Given the description of an element on the screen output the (x, y) to click on. 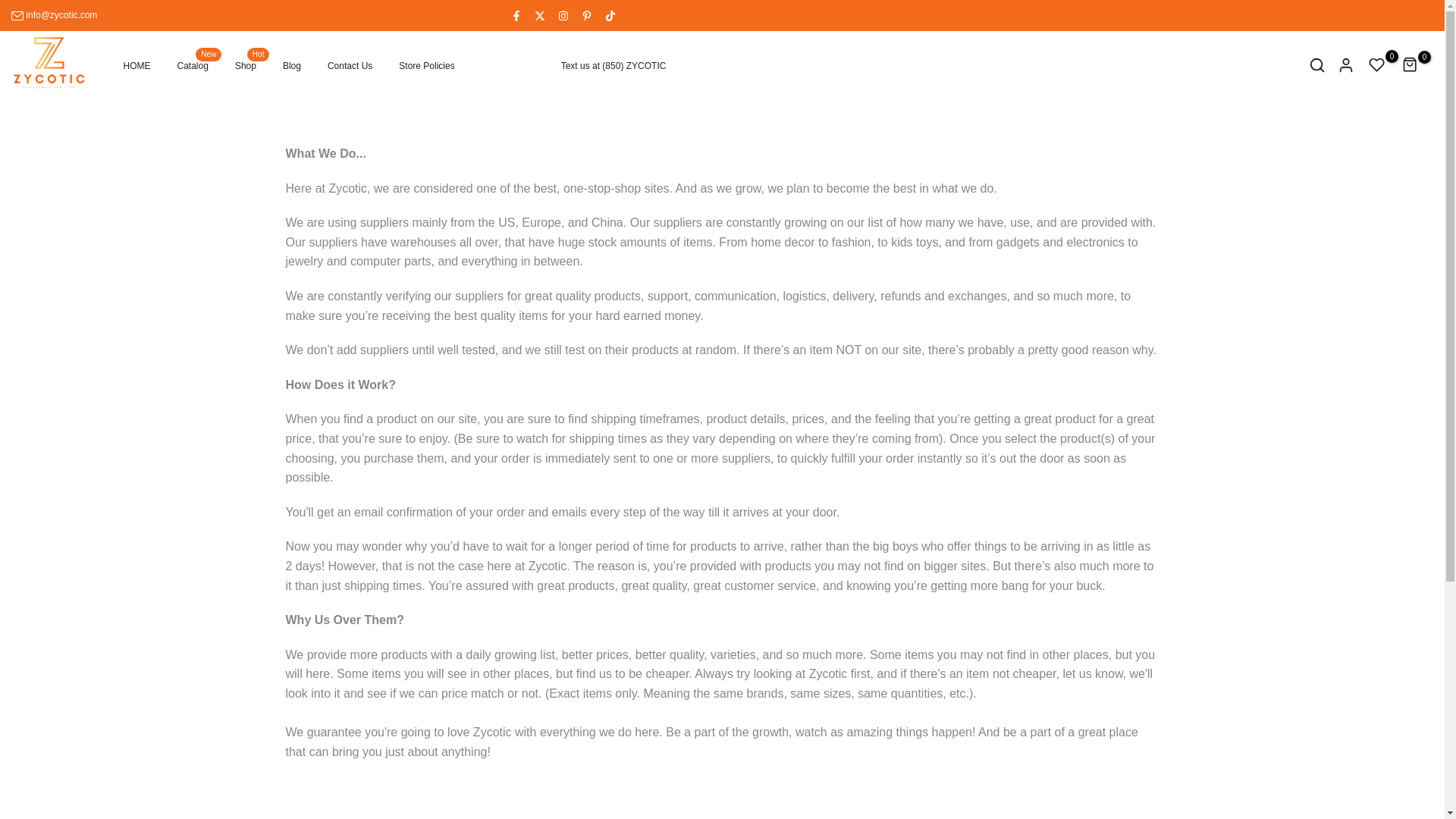
Contact Us (349, 65)
Store Policies (192, 65)
0 (426, 65)
HOME (1377, 64)
0 (136, 65)
Blog (1410, 64)
Skip to content (291, 65)
